Given the description of an element on the screen output the (x, y) to click on. 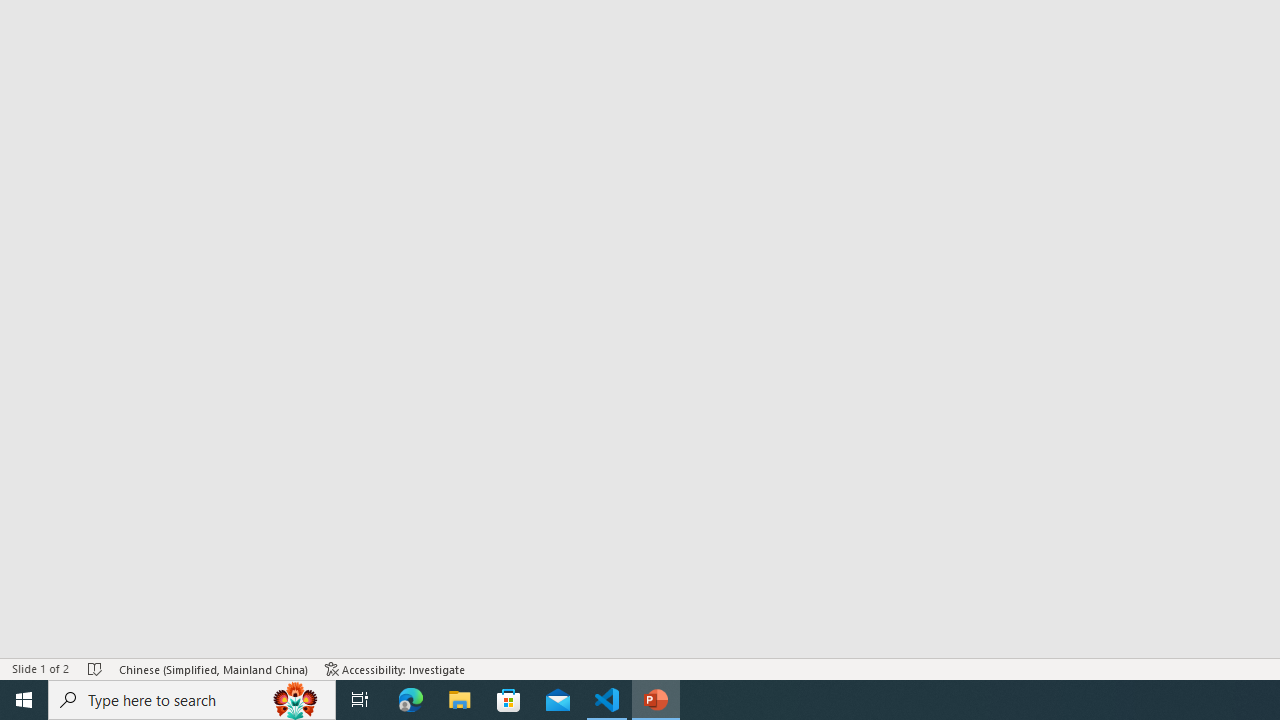
Spell Check No Errors (95, 668)
Accessibility Checker Accessibility: Investigate (395, 668)
